Given the description of an element on the screen output the (x, y) to click on. 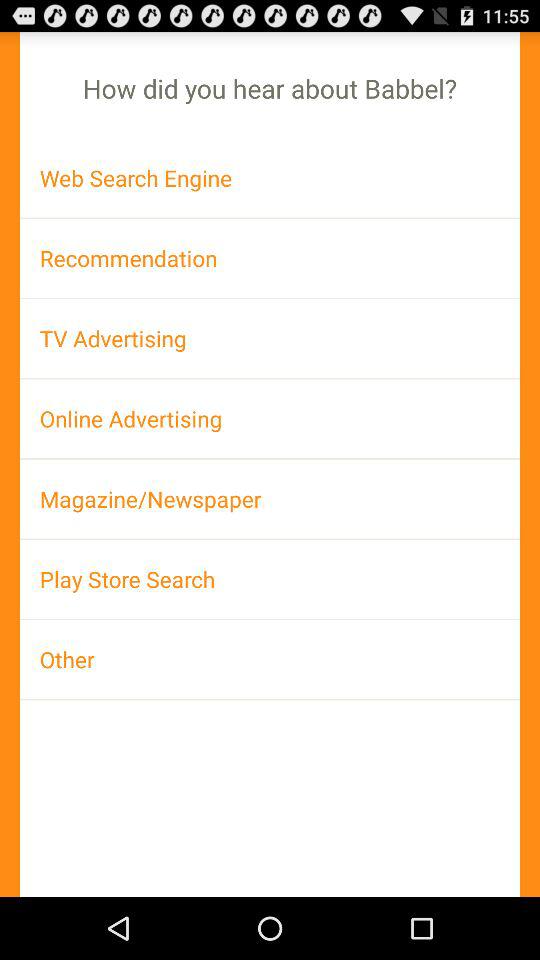
turn off web search engine item (269, 177)
